Given the description of an element on the screen output the (x, y) to click on. 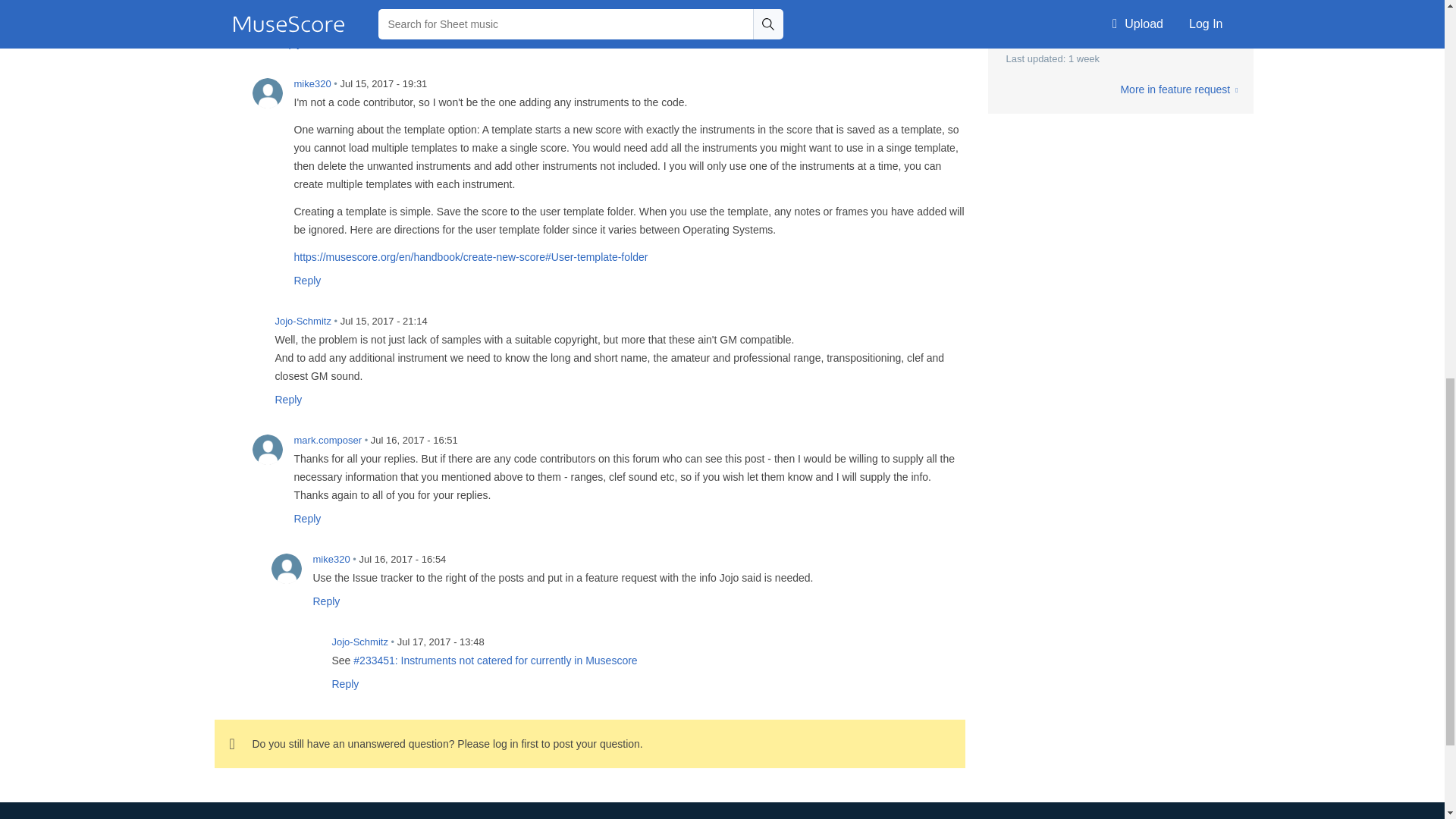
mike320 (285, 568)
mike320 (266, 92)
Jojo-Schmitz (247, 330)
Jojo-Schmitz (304, 651)
mark.composer (266, 449)
Status: active (495, 660)
